Given the description of an element on the screen output the (x, y) to click on. 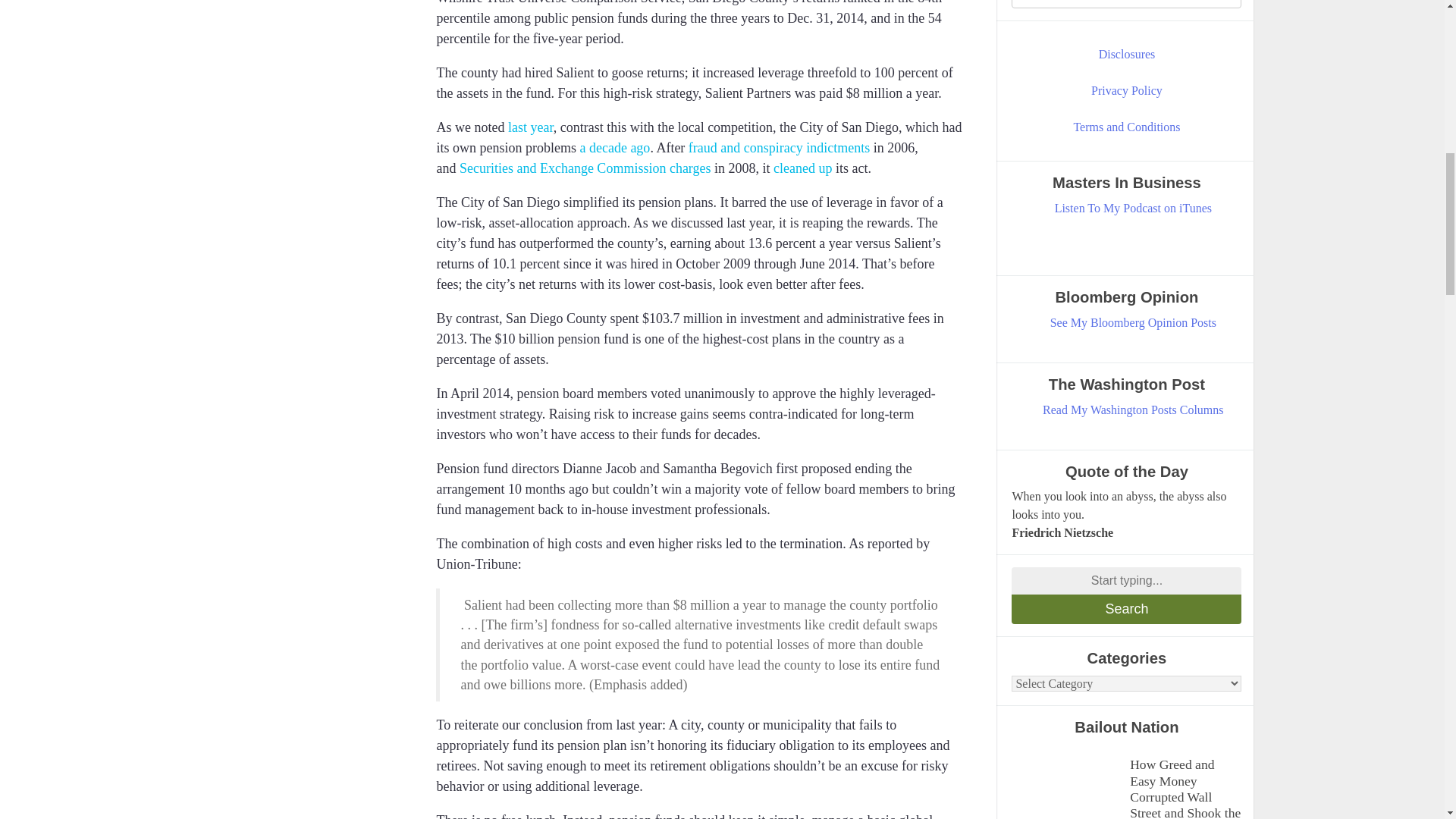
last year (530, 127)
fraud and conspiracy indictments (778, 147)
Search (1126, 609)
Securities and Exchange Commission charges (585, 168)
Bailout Nation (1066, 781)
a decade ago (614, 147)
cleaned up (802, 168)
Search (1126, 609)
